Given the description of an element on the screen output the (x, y) to click on. 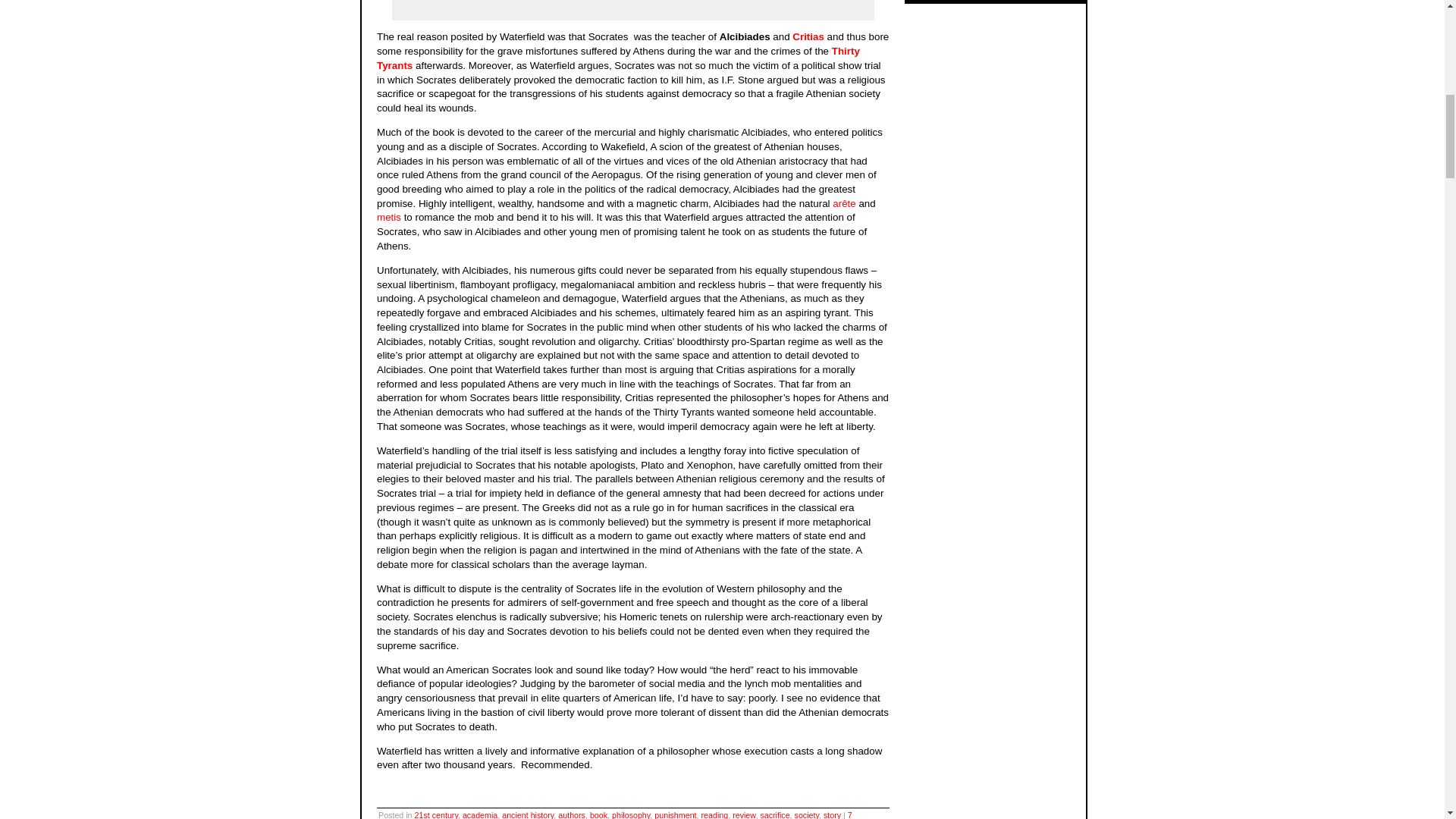
review (743, 814)
reading (715, 814)
21st century (436, 814)
academia (480, 814)
philosophy (630, 814)
Critias (809, 36)
authors (571, 814)
punishment (674, 814)
metis (389, 216)
society (806, 814)
